Given the description of an element on the screen output the (x, y) to click on. 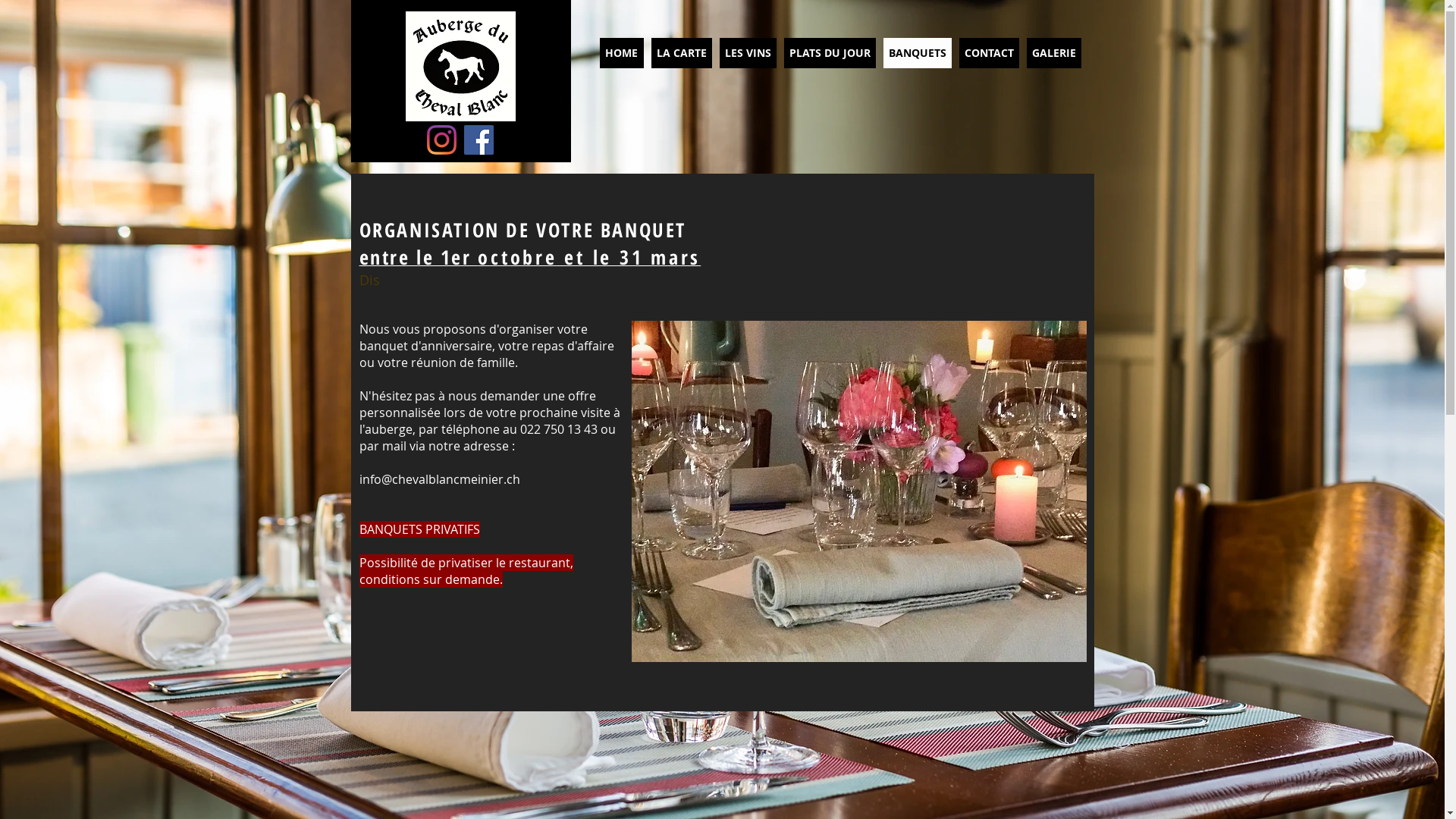
LES VINS Element type: text (746, 52)
CONTACT Element type: text (988, 52)
BANQUETS Element type: text (916, 52)
info@chevalblancmeinier.ch Element type: text (439, 478)
PLATS DU JOUR Element type: text (829, 52)
LA CARTE Element type: text (680, 52)
HOME Element type: text (621, 52)
GALERIE Element type: text (1053, 52)
